Given the description of an element on the screen output the (x, y) to click on. 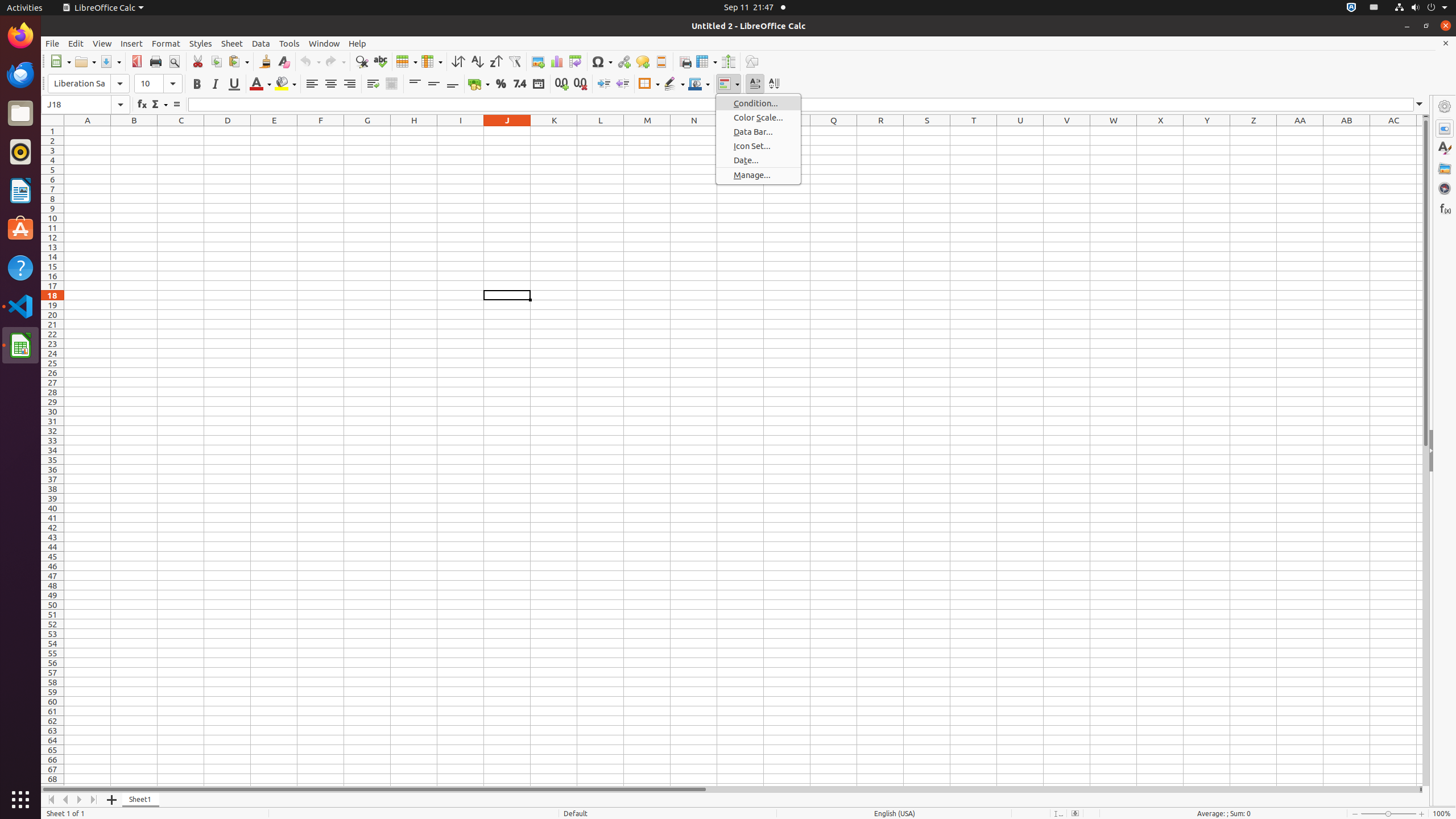
LibreOffice Calc Element type: push-button (20, 344)
luyi1 Element type: label (75, 50)
Firefox Web Browser Element type: push-button (20, 35)
IsaHelpMain.desktop Element type: label (75, 170)
